Given the description of an element on the screen output the (x, y) to click on. 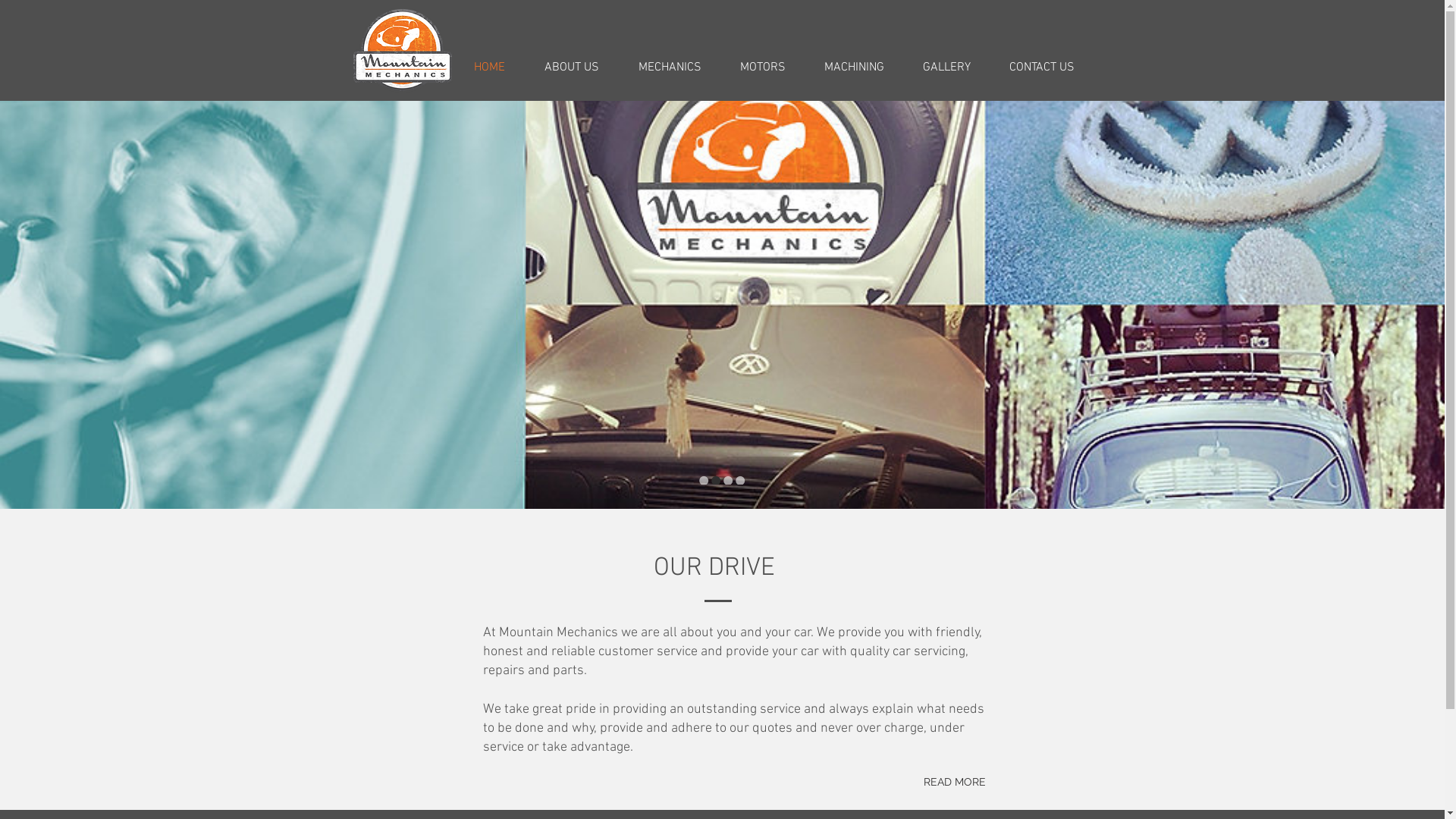
CONTACT US Element type: text (1042, 67)
ABOUT US Element type: text (571, 67)
HOME Element type: text (488, 67)
READ MORE Element type: text (954, 781)
MACHINING Element type: text (854, 67)
MECHANICS Element type: text (669, 67)
GALLERY Element type: text (946, 67)
MOTORS Element type: text (762, 67)
